Given the description of an element on the screen output the (x, y) to click on. 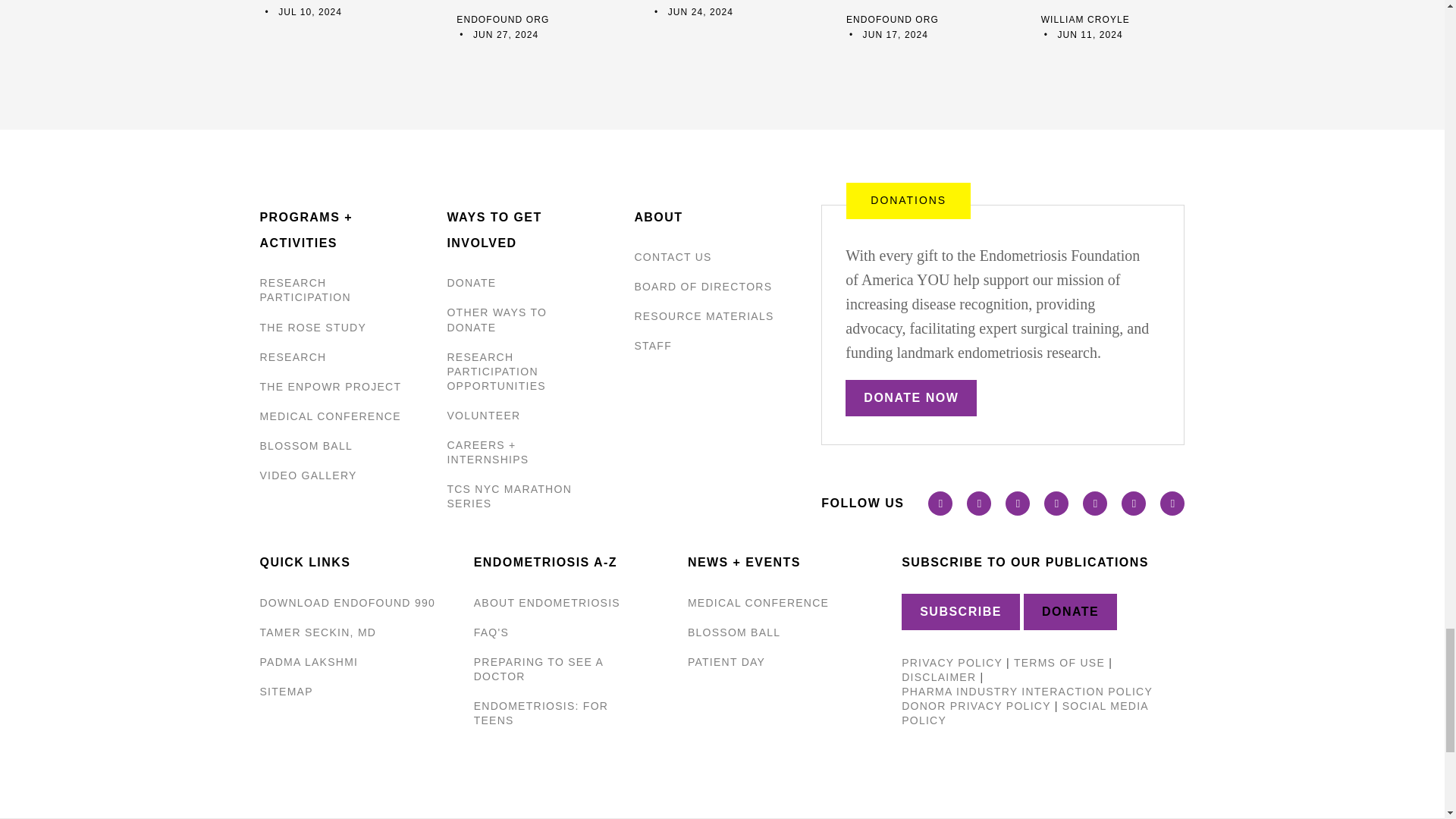
youtube (1017, 503)
instagram (1055, 503)
twitter (978, 503)
facebook (940, 503)
